Given the description of an element on the screen output the (x, y) to click on. 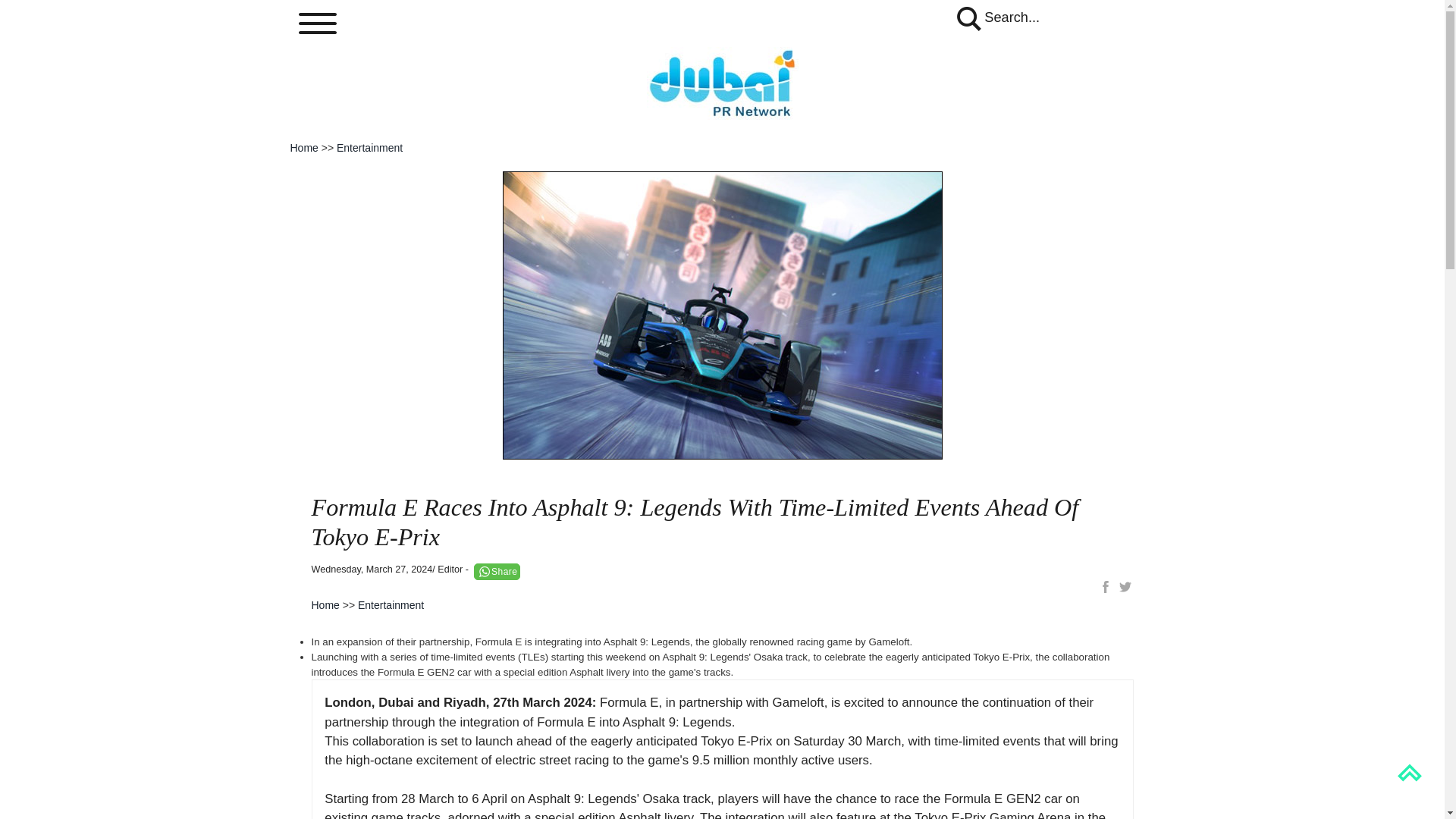
Home (303, 147)
Share (497, 571)
Home (325, 604)
Facebook (1105, 586)
Search... (997, 17)
Twitter (1124, 586)
Entertainment (390, 604)
Entertainment (369, 147)
